Given the description of an element on the screen output the (x, y) to click on. 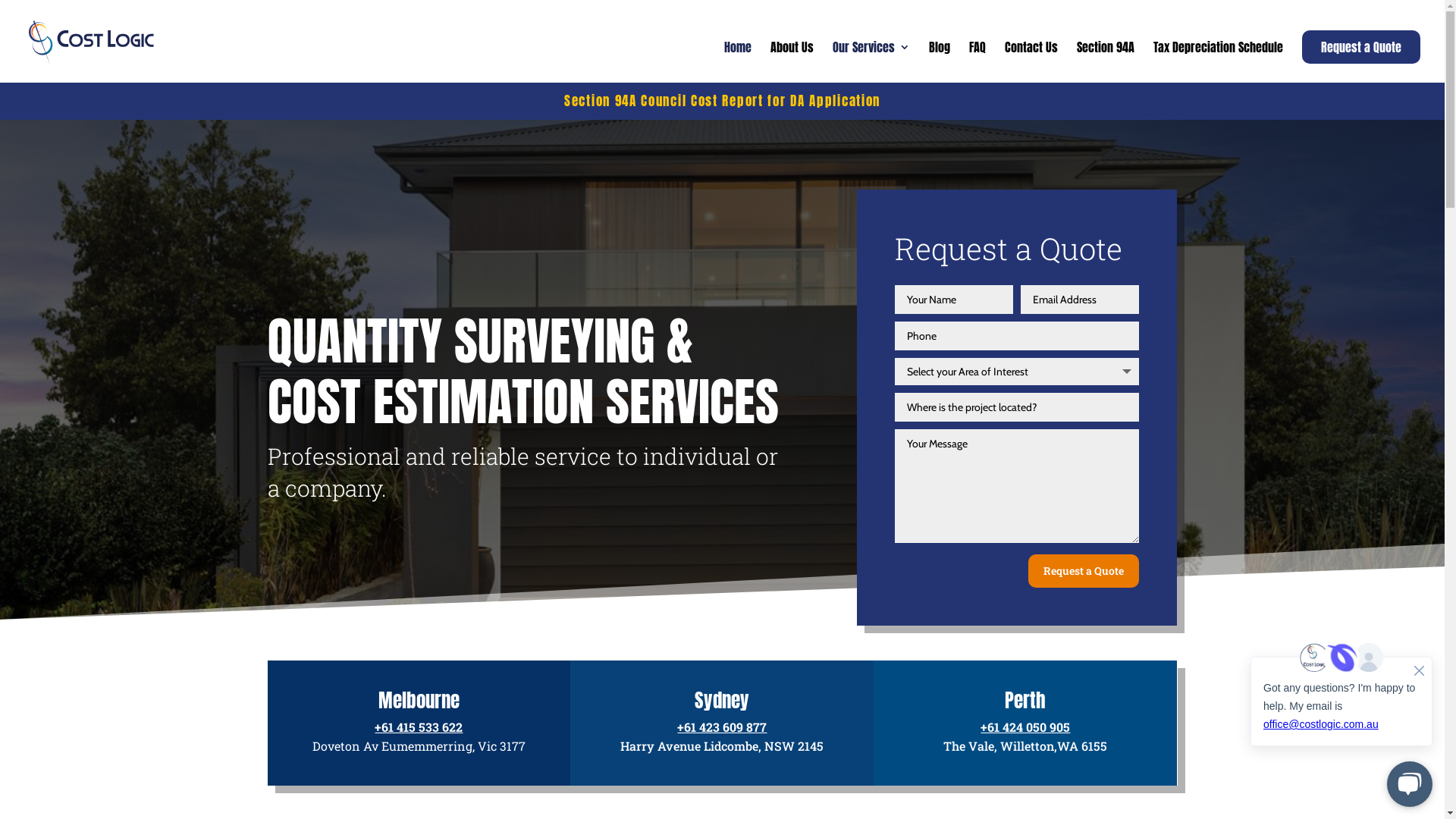
+61 424 050 905 Element type: text (1025, 726)
About Us Element type: text (791, 61)
Blog Element type: text (939, 61)
Contact Us Element type: text (1030, 61)
Request a Quote Element type: text (1083, 570)
Home Element type: text (737, 61)
+61 423 609 877 Element type: text (721, 726)
FAQ Element type: text (977, 61)
Tax Depreciation Schedule Element type: text (1218, 61)
Request a Quote Element type: text (1361, 46)
+61 415 533 622 Element type: text (418, 726)
Section 94A Element type: text (1105, 61)
Our Services Element type: text (871, 61)
